Given the description of an element on the screen output the (x, y) to click on. 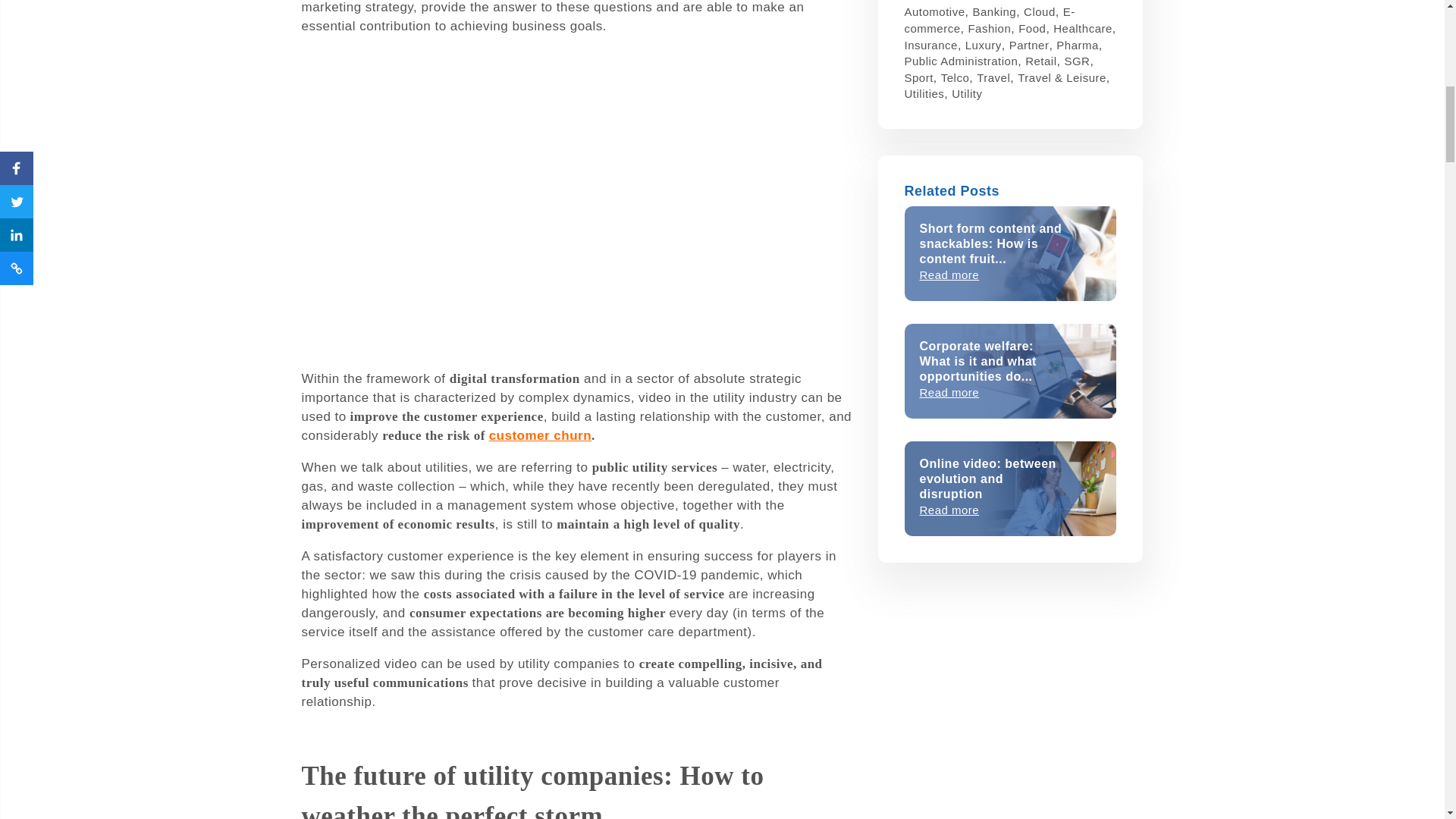
YouTube video player (577, 199)
